Given the description of an element on the screen output the (x, y) to click on. 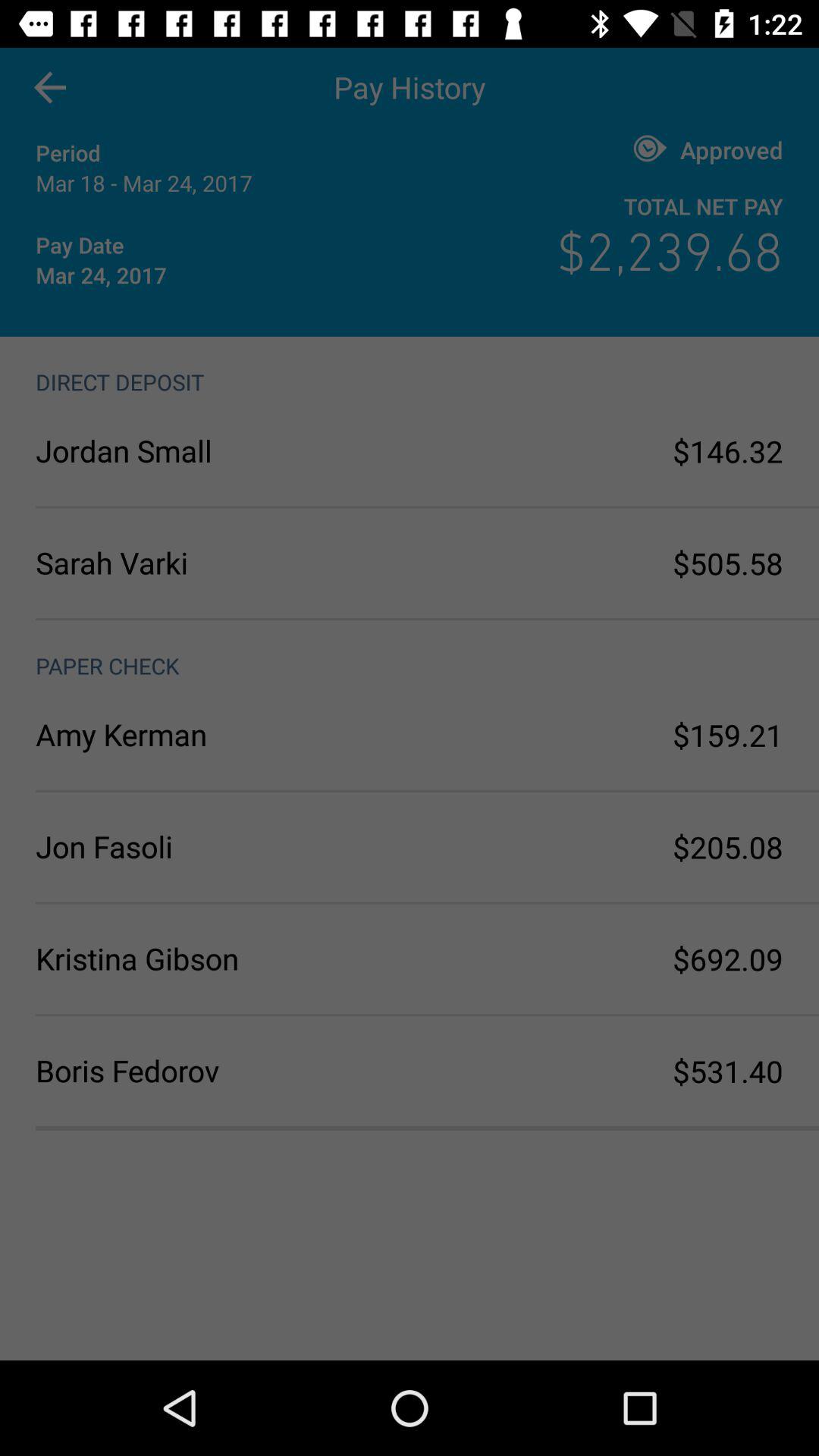
tap item to the left of the $505.58 item (222, 562)
